Given the description of an element on the screen output the (x, y) to click on. 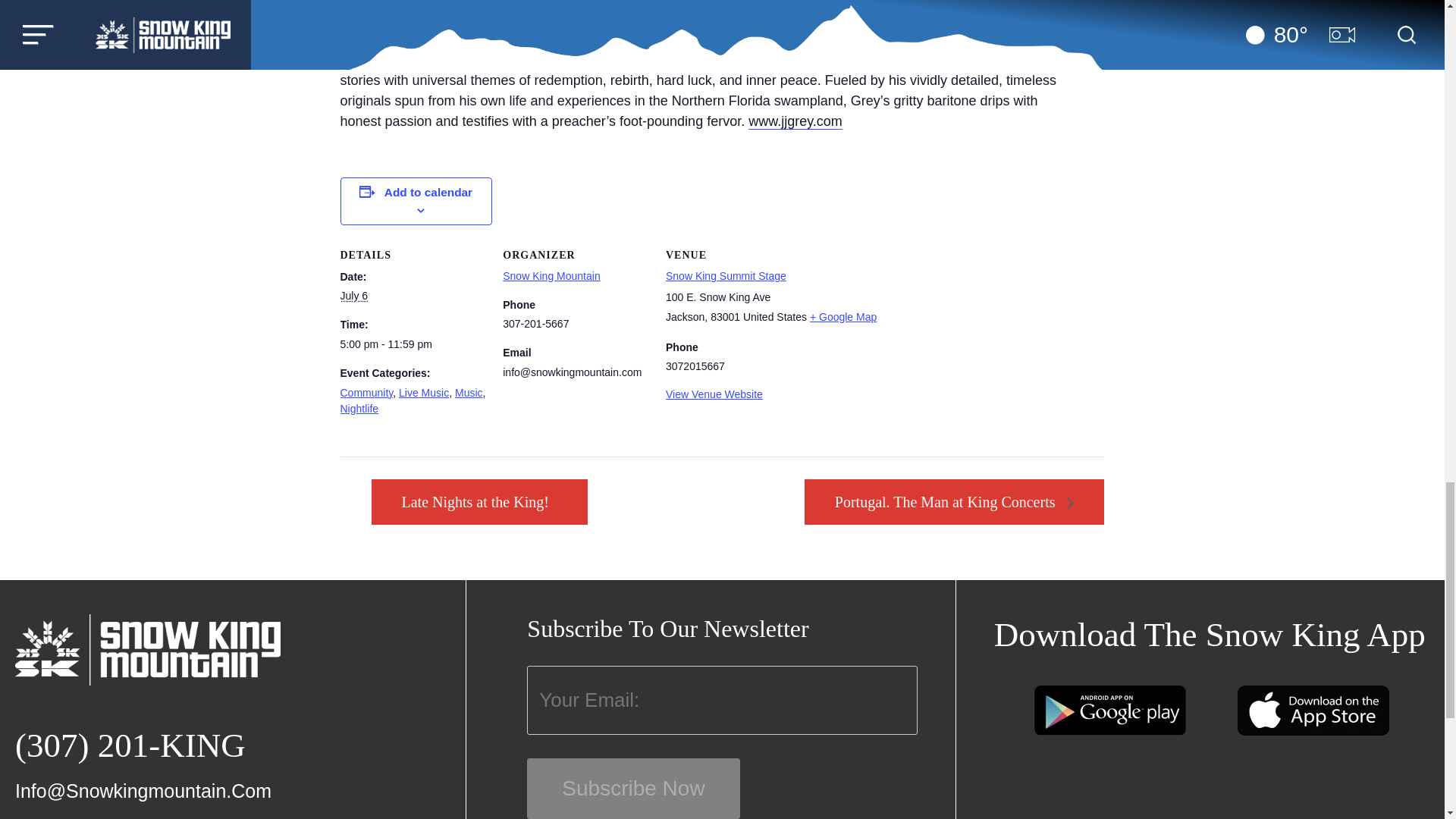
Snow King Mountain (550, 275)
Subscribe Now (633, 788)
Click to view a Google Map (842, 316)
2024-07-06 (420, 344)
2024-07-06 (353, 295)
